Given the description of an element on the screen output the (x, y) to click on. 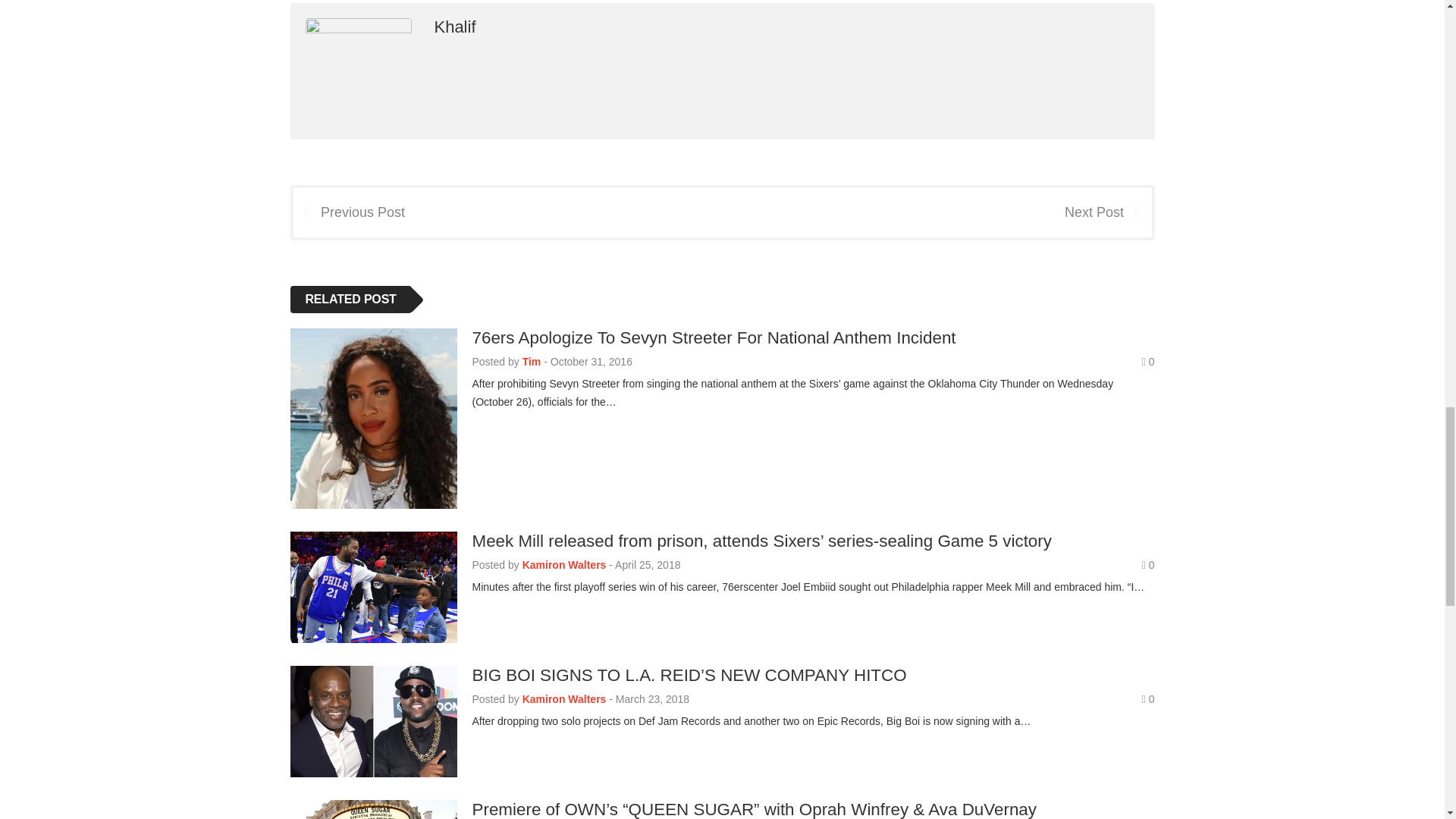
Tim (531, 361)
Khalif (454, 26)
Posts by Kamiron Walters (564, 698)
Posts by Tim (531, 361)
Next Post (1107, 212)
Previous Post (348, 212)
Posts by Kamiron Walters (564, 564)
